Given the description of an element on the screen output the (x, y) to click on. 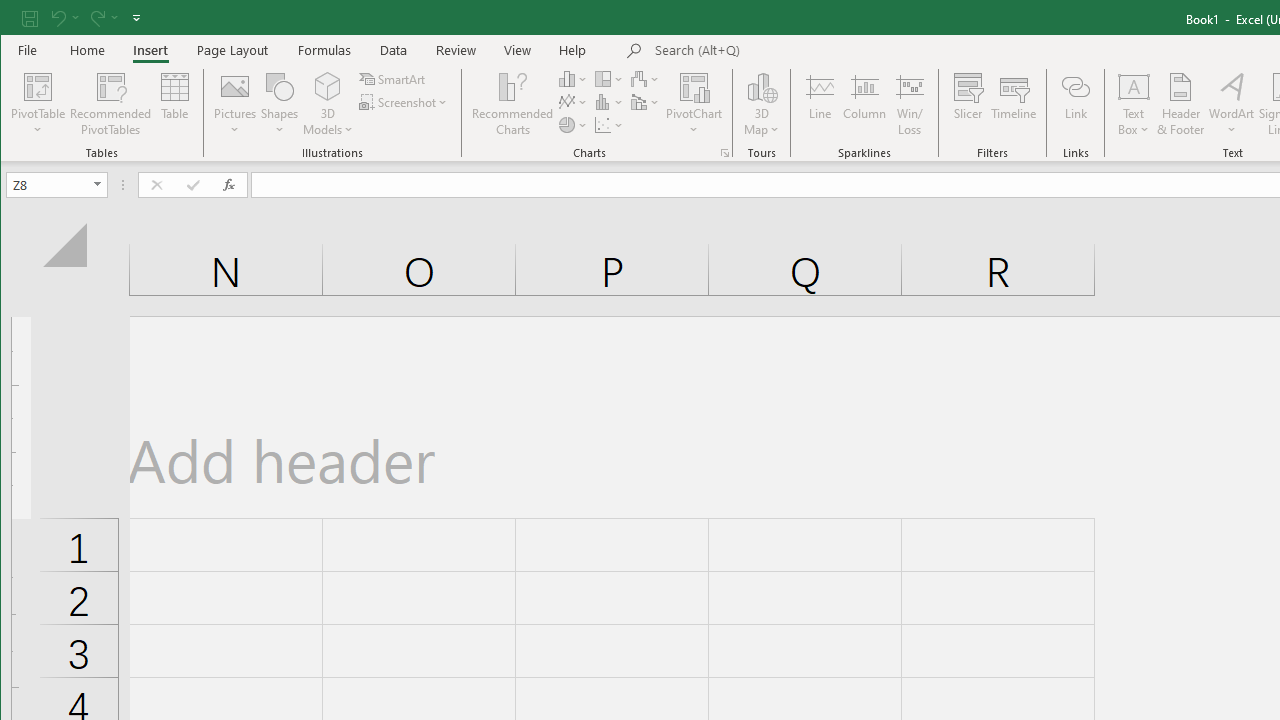
Shapes (279, 104)
Insert Column or Bar Chart (573, 78)
Microsoft search (794, 51)
WordArt (1231, 104)
3D Map (762, 86)
Table (174, 104)
